Given the description of an element on the screen output the (x, y) to click on. 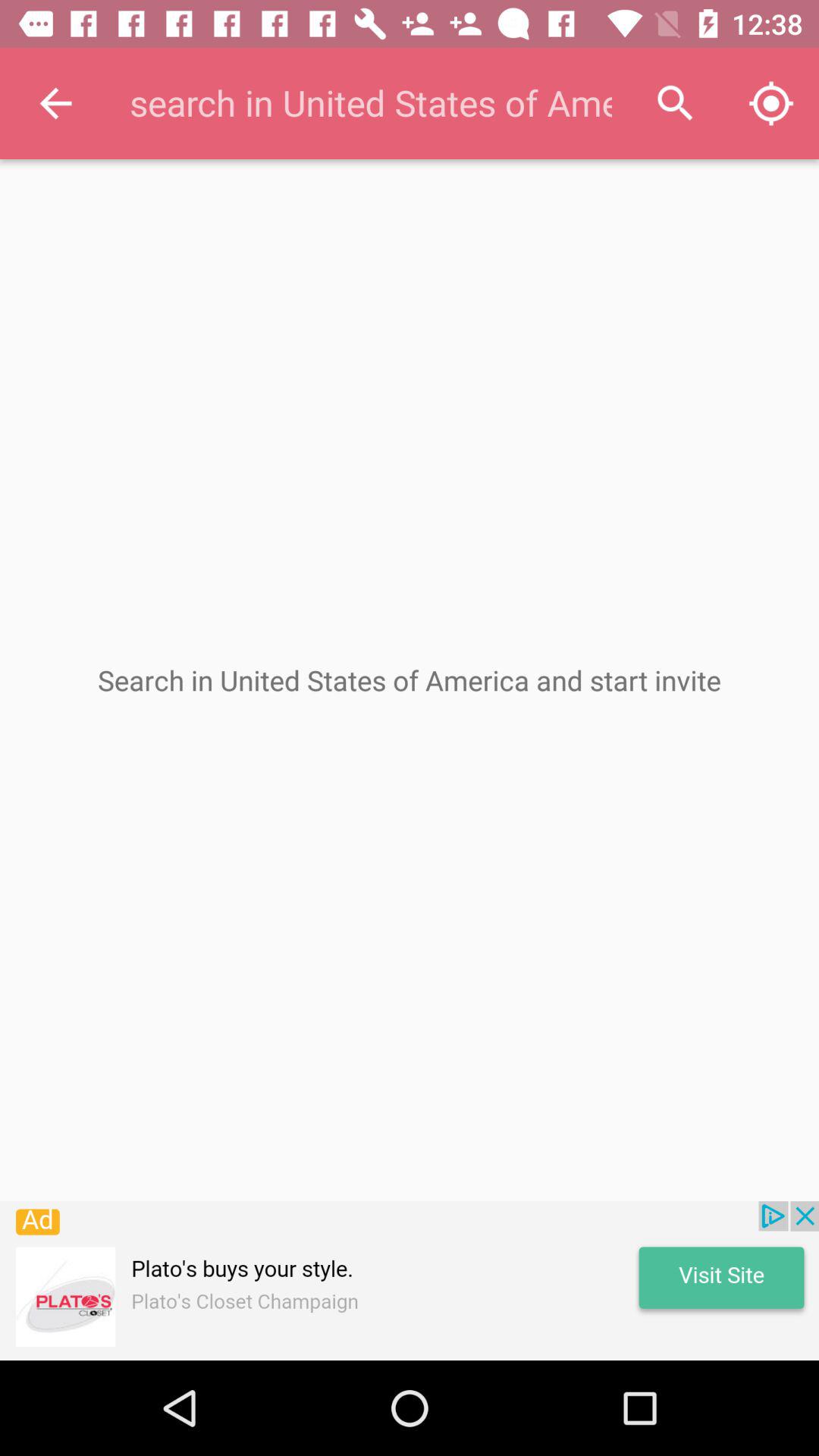
search (369, 103)
